Given the description of an element on the screen output the (x, y) to click on. 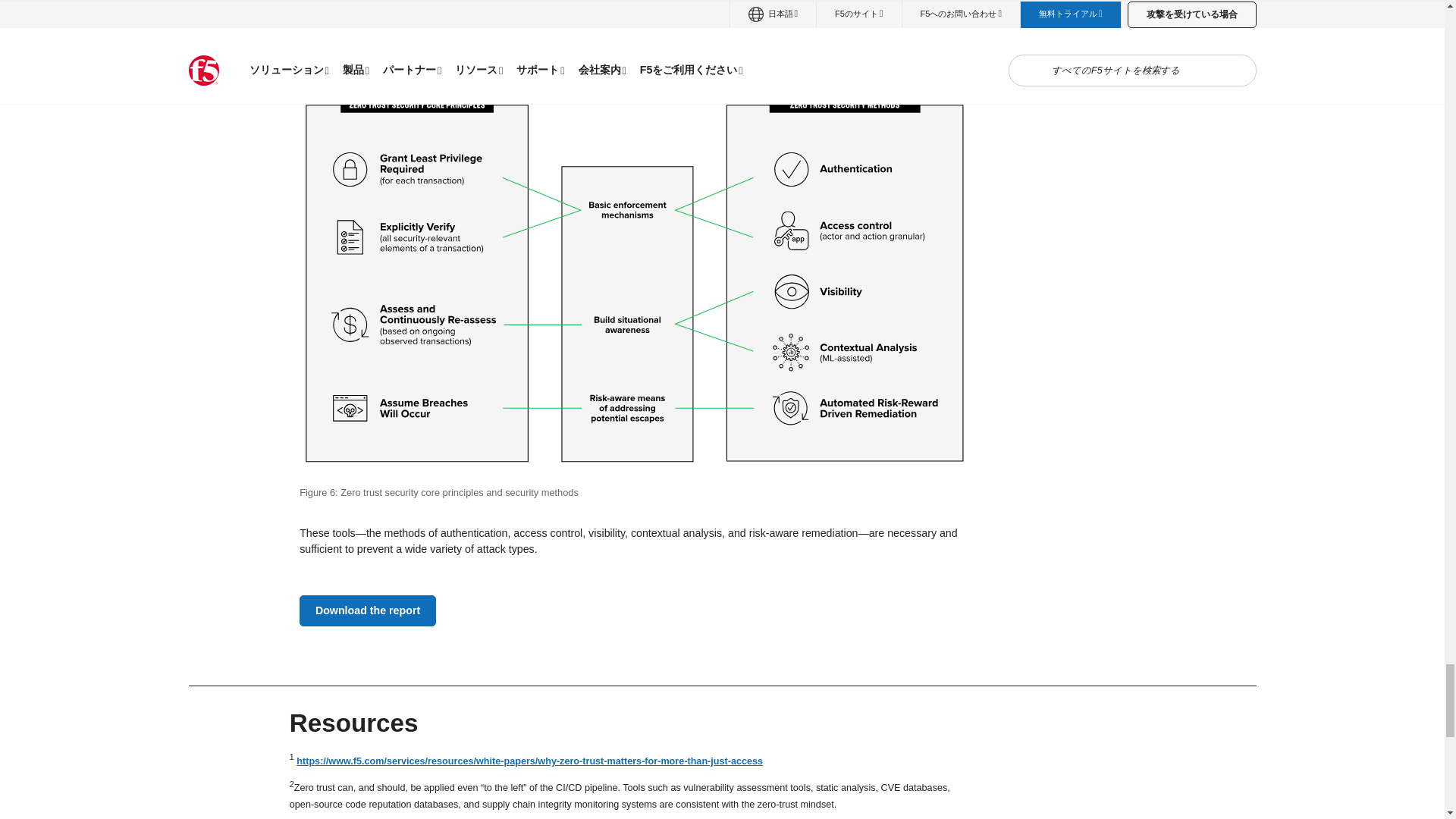
Download the report (367, 610)
